Given the description of an element on the screen output the (x, y) to click on. 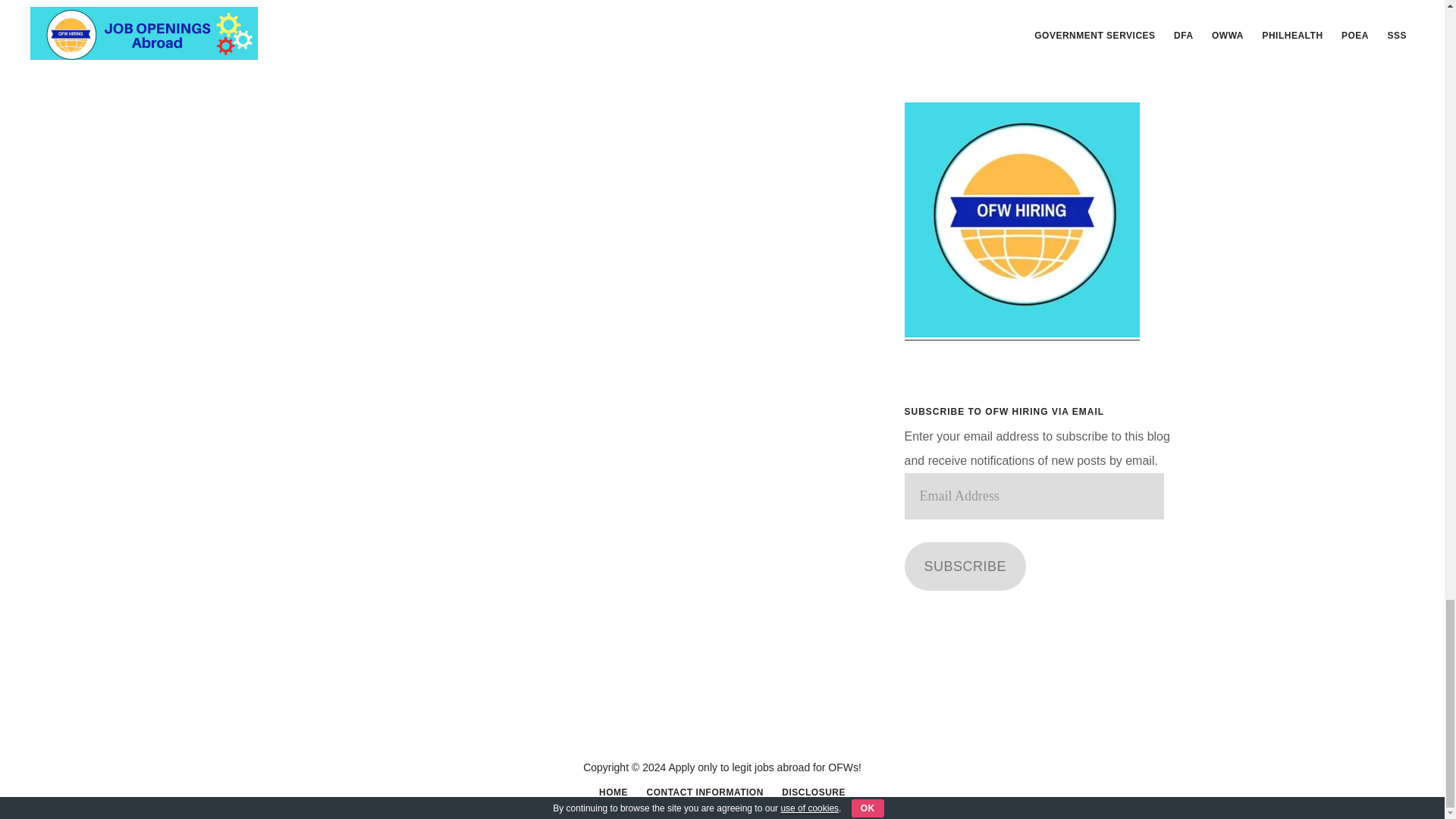
SUBSCRIBE (965, 566)
HOME (612, 791)
